Given the description of an element on the screen output the (x, y) to click on. 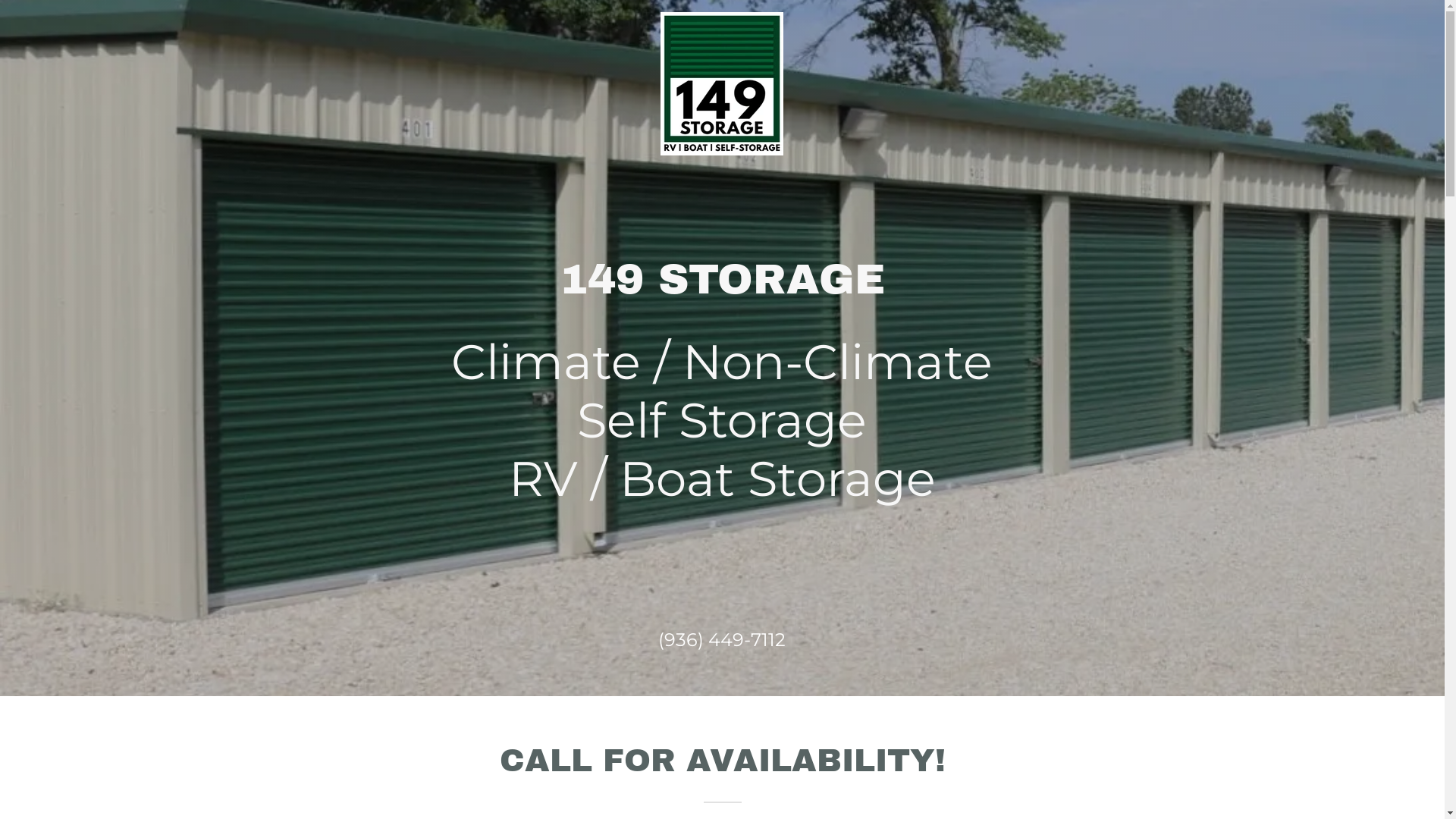
(936) 449-7112 Element type: text (721, 639)
